Given the description of an element on the screen output the (x, y) to click on. 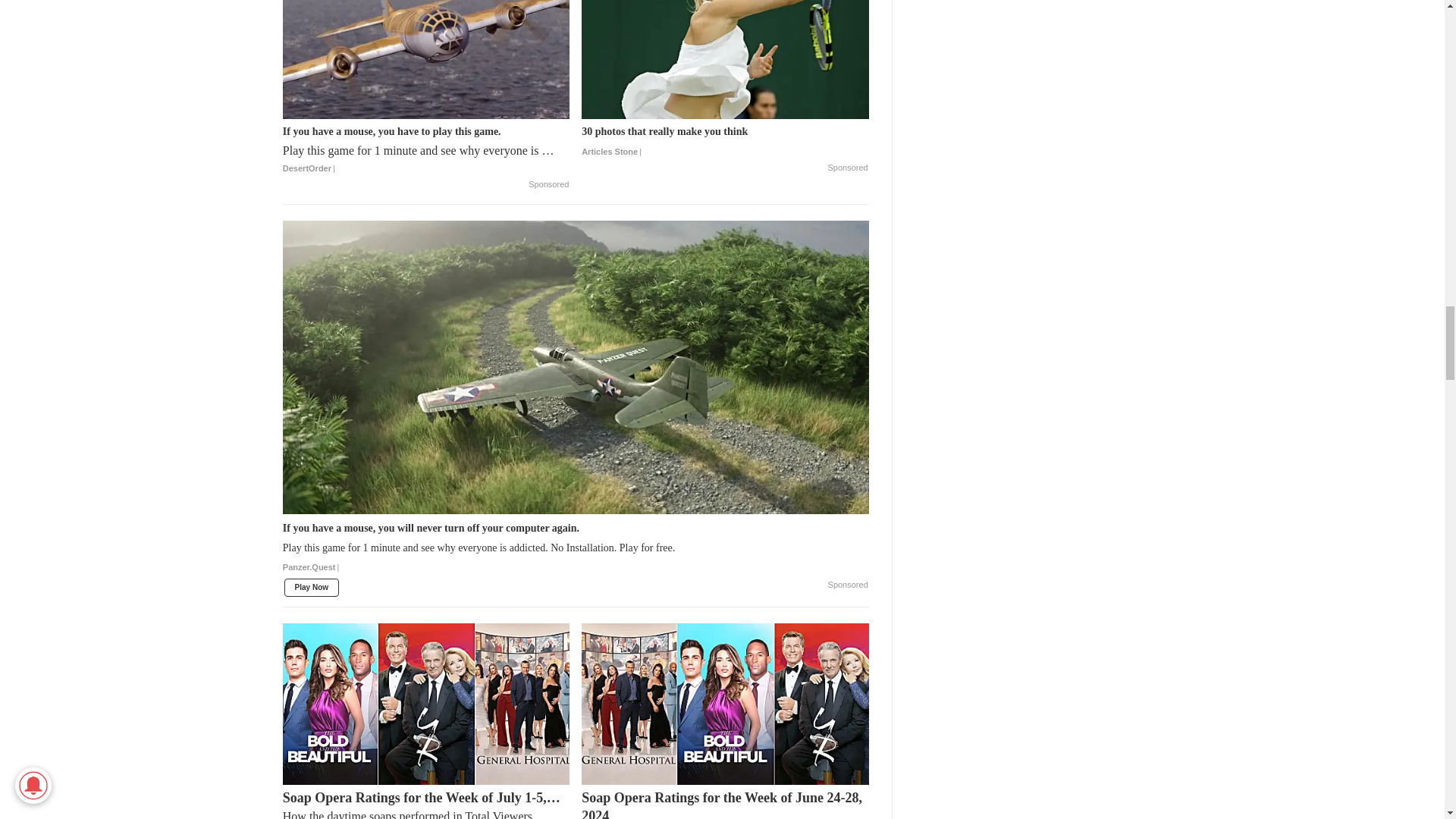
30 photos that really make you think (724, 59)
